Given the description of an element on the screen output the (x, y) to click on. 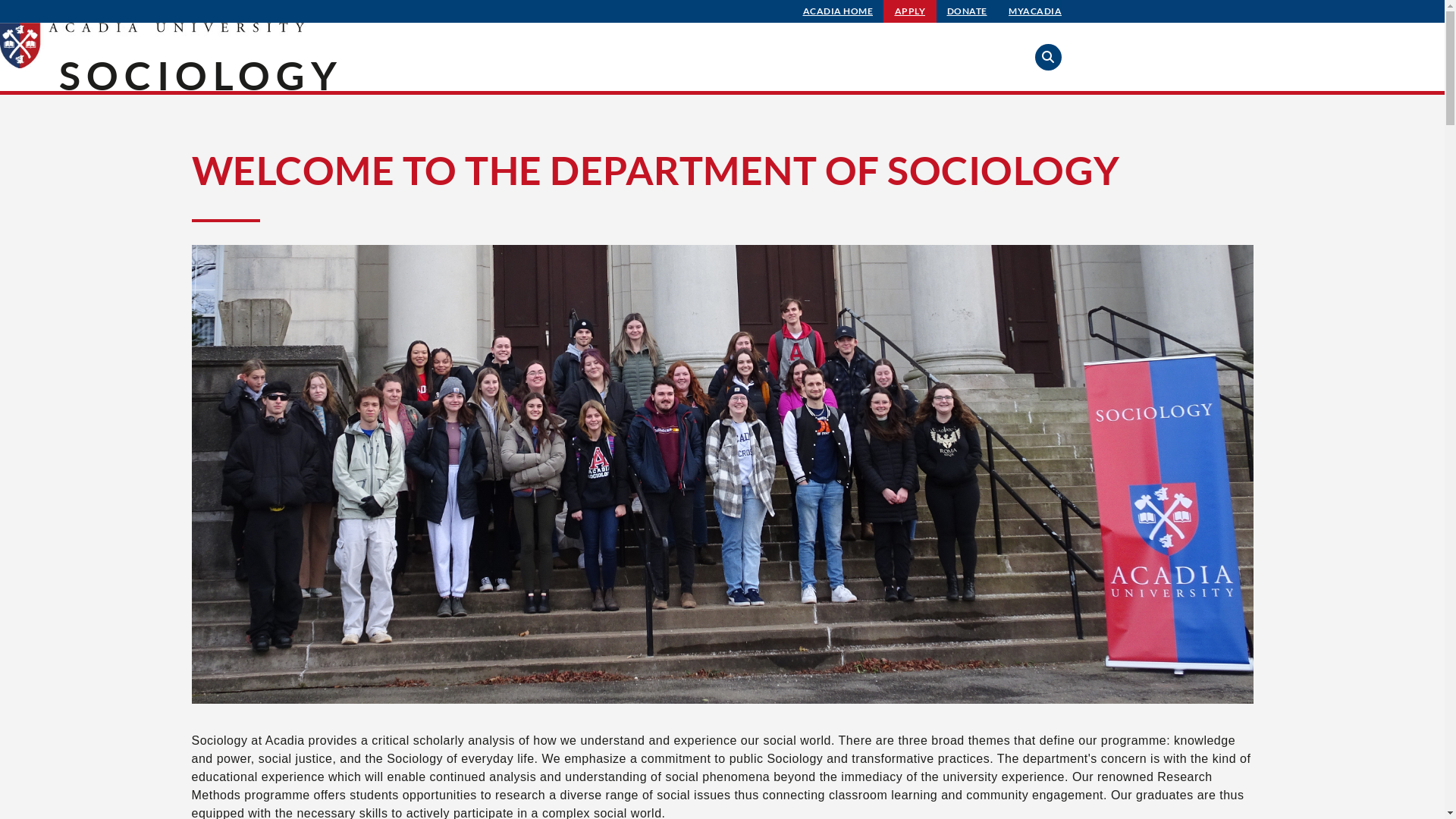
MYACADIA Element type: text (1035, 11)
ACADIA HOME Element type: text (837, 11)
APPLY Element type: text (909, 11)
DONATE Element type: text (966, 11)
SOCIOLOGY Element type: text (200, 74)
